Given the description of an element on the screen output the (x, y) to click on. 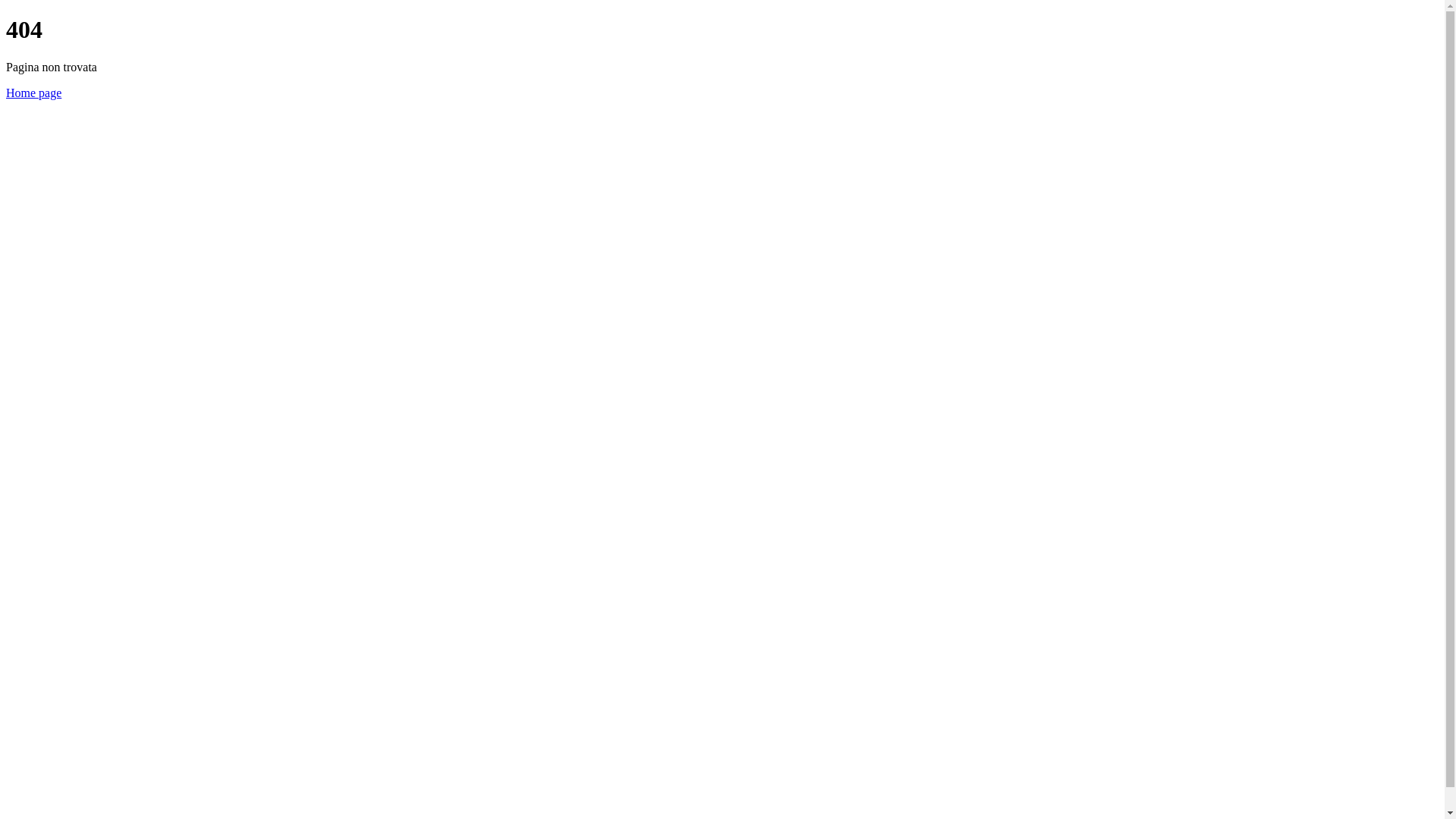
Home page Element type: text (33, 92)
